Given the description of an element on the screen output the (x, y) to click on. 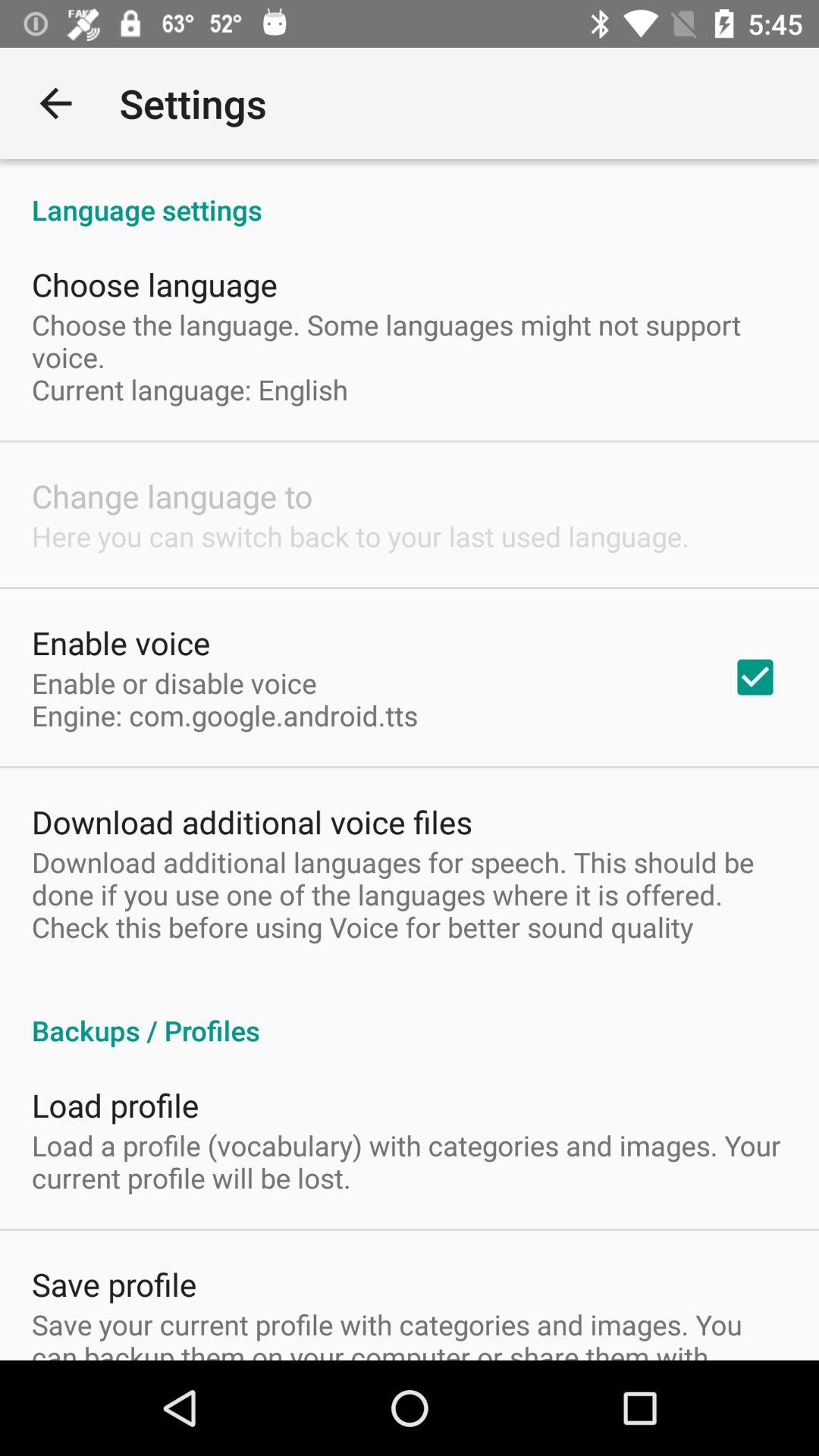
launch the app below the choose the language icon (755, 677)
